Given the description of an element on the screen output the (x, y) to click on. 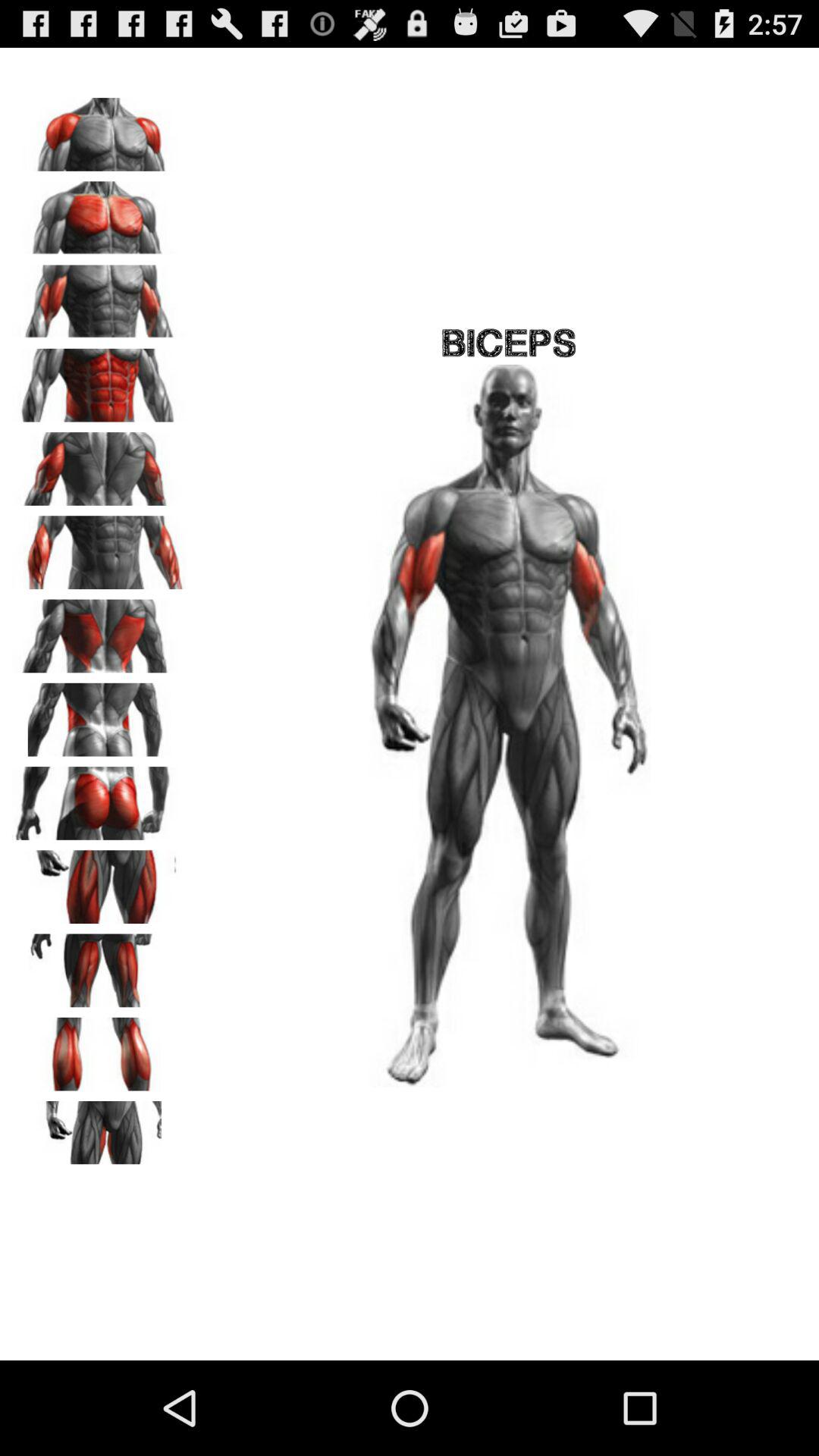
select option (99, 463)
